Given the description of an element on the screen output the (x, y) to click on. 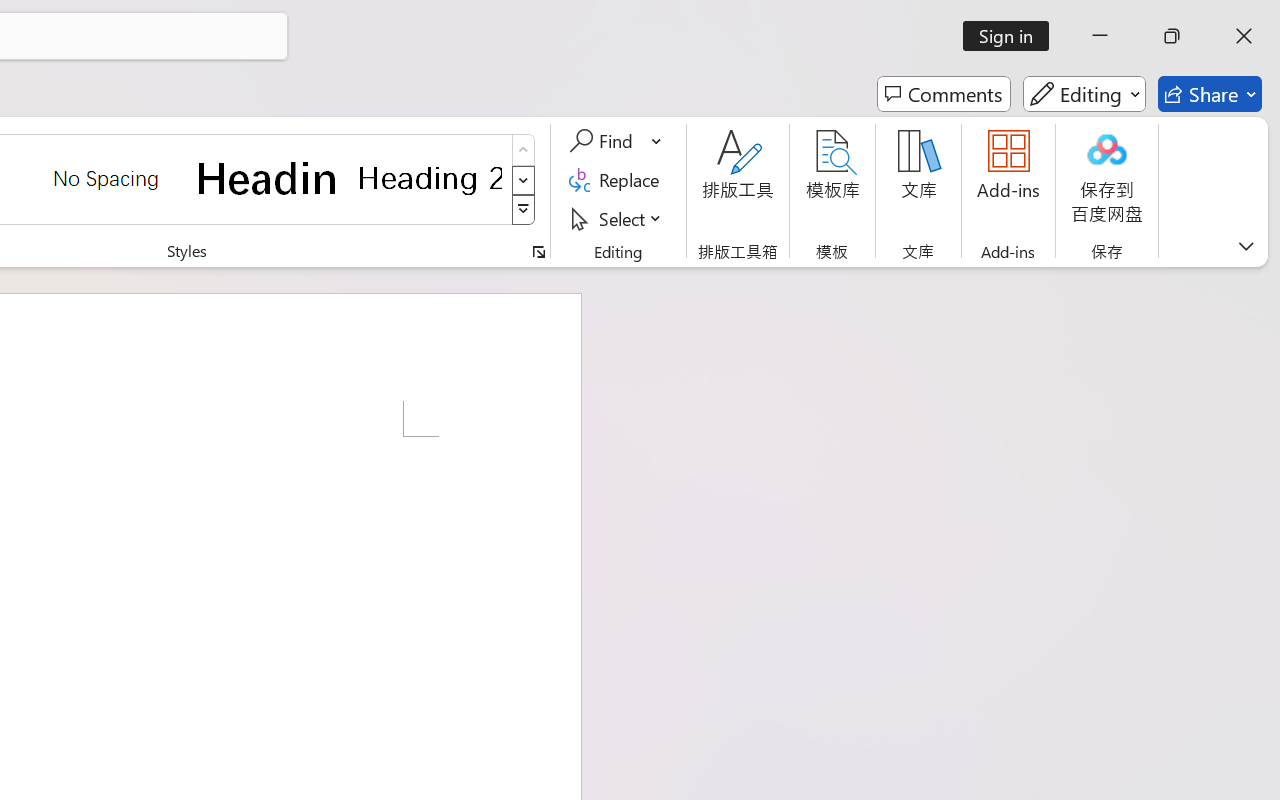
Sign in (1012, 35)
